Given the description of an element on the screen output the (x, y) to click on. 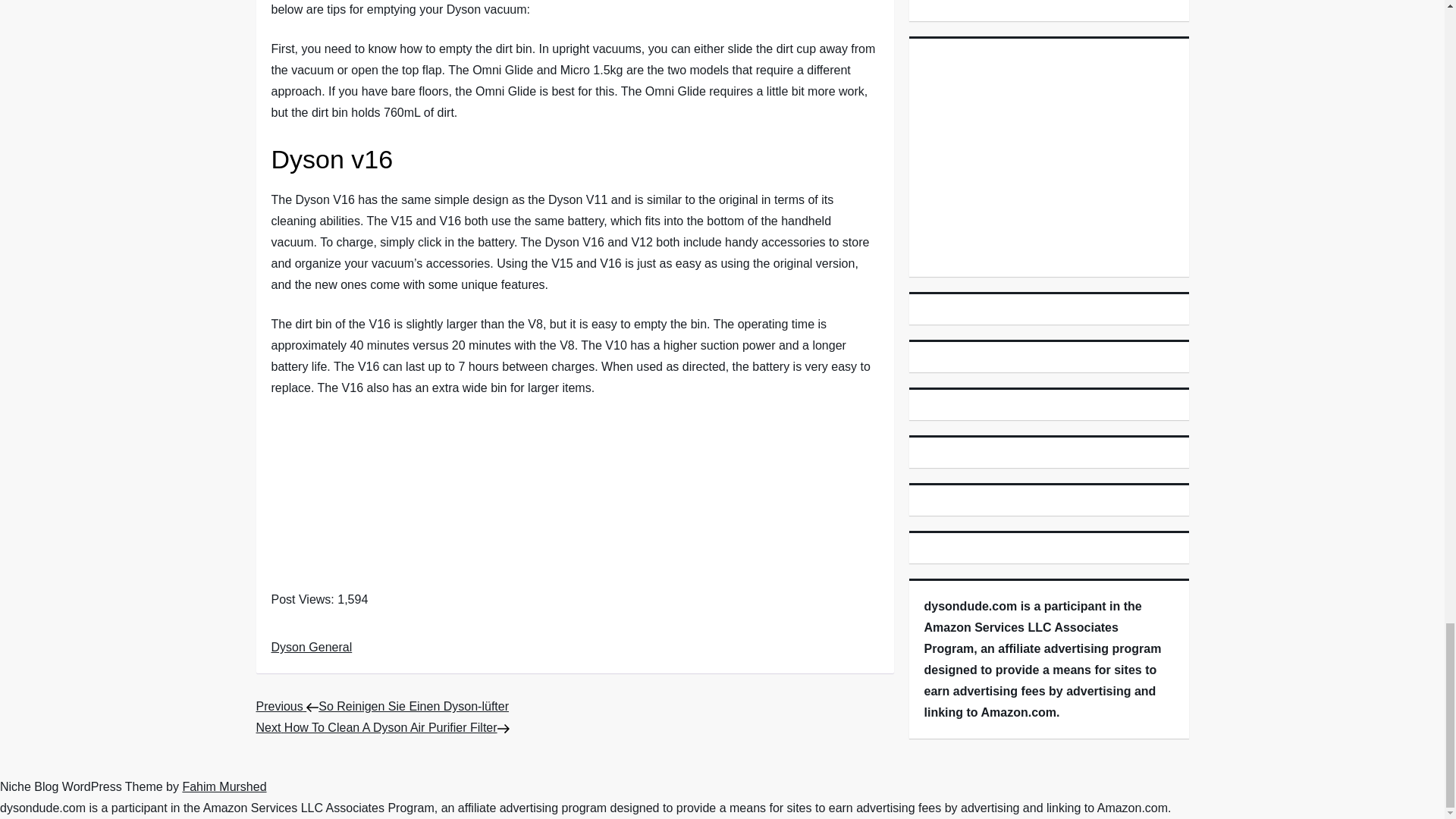
Dyson General (311, 646)
Fahim Murshed (382, 727)
